Given the description of an element on the screen output the (x, y) to click on. 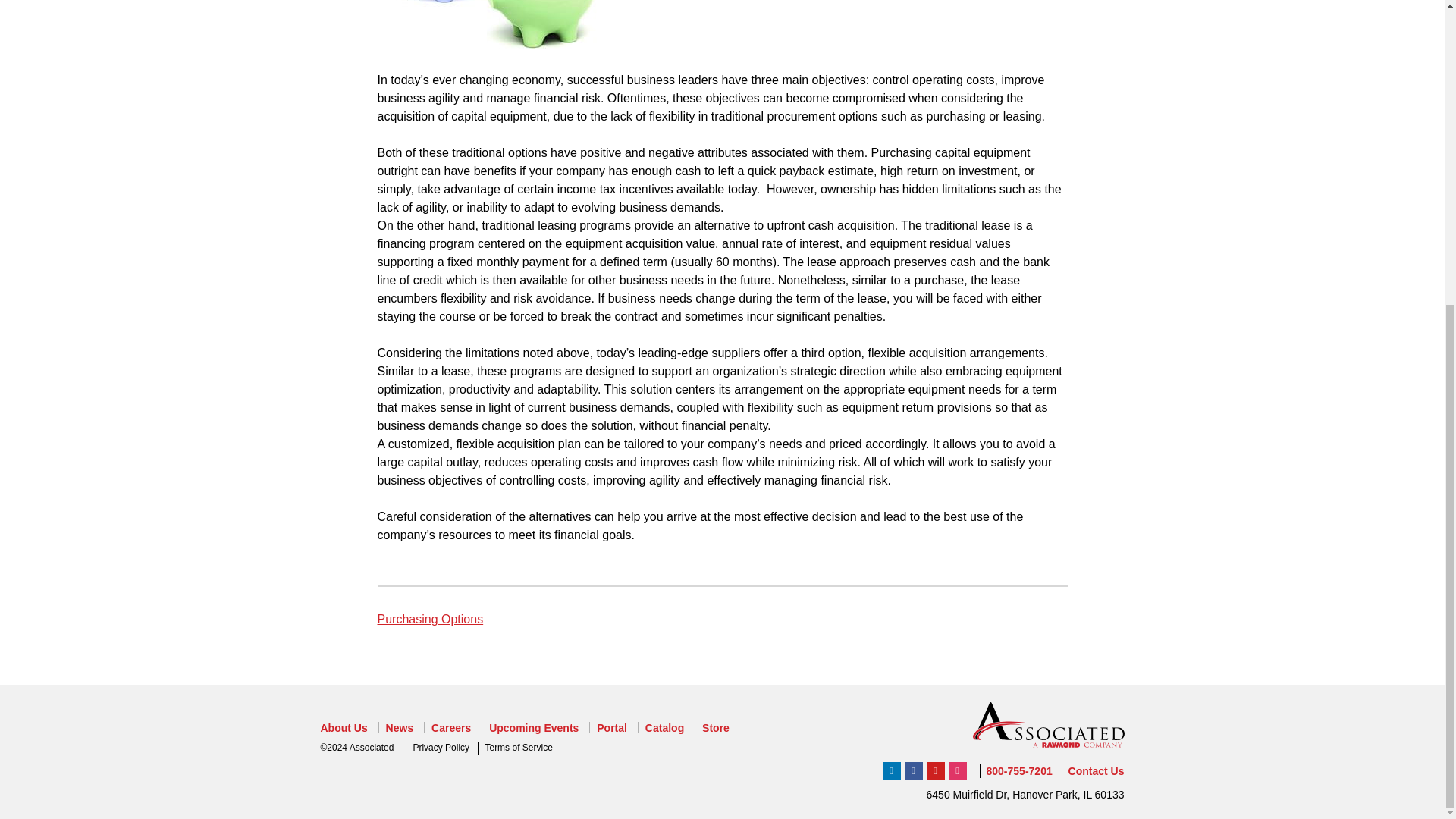
Careers (450, 727)
Connect with us on LinkedIn (891, 771)
Like us on Facebook (913, 771)
Follow us on Instagram  (957, 771)
Warehouse Product Catalog (664, 727)
Contact us (1096, 770)
Follow us on YouTube (935, 771)
